Given the description of an element on the screen output the (x, y) to click on. 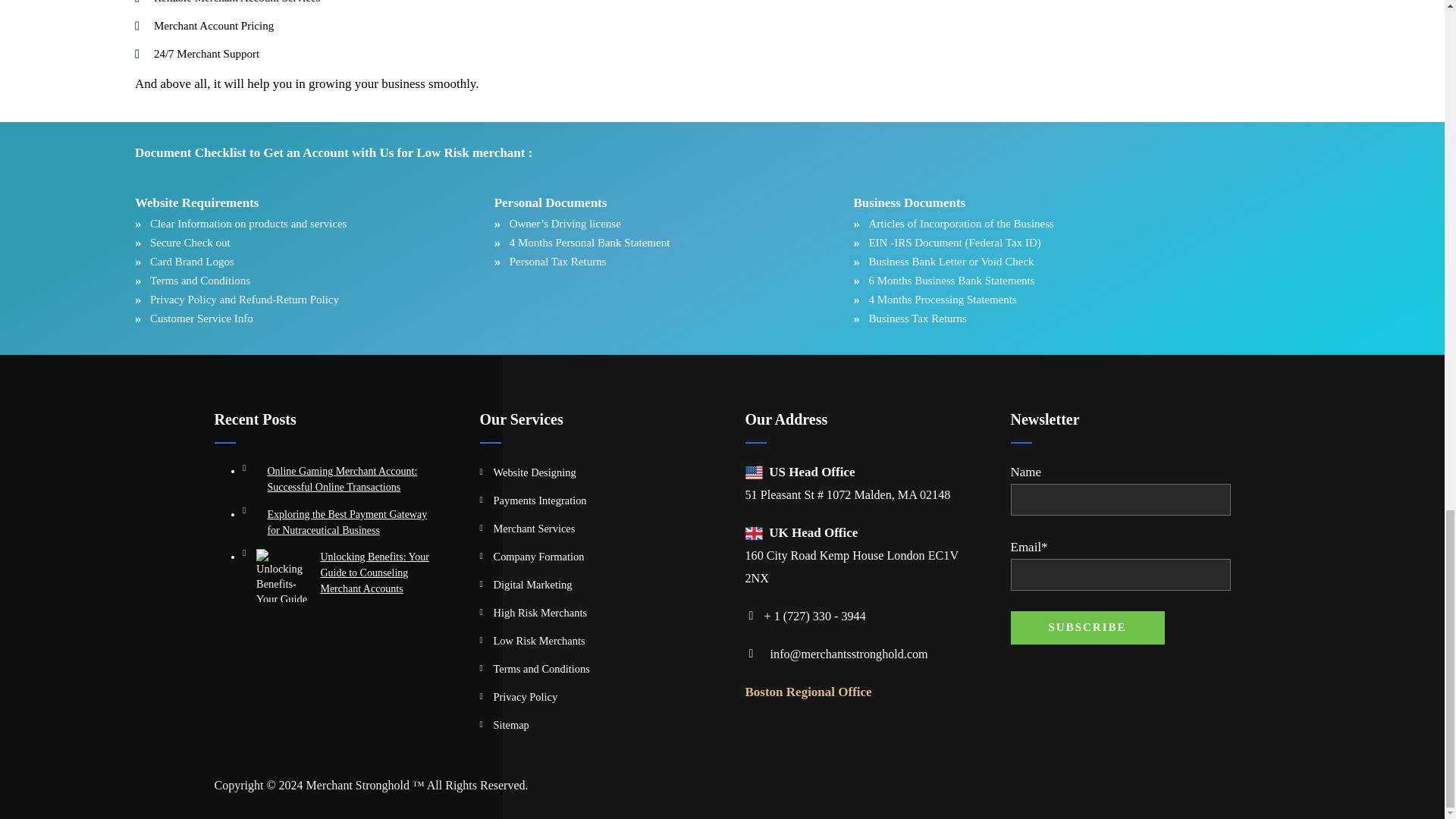
Subscribe (1086, 627)
